Given the description of an element on the screen output the (x, y) to click on. 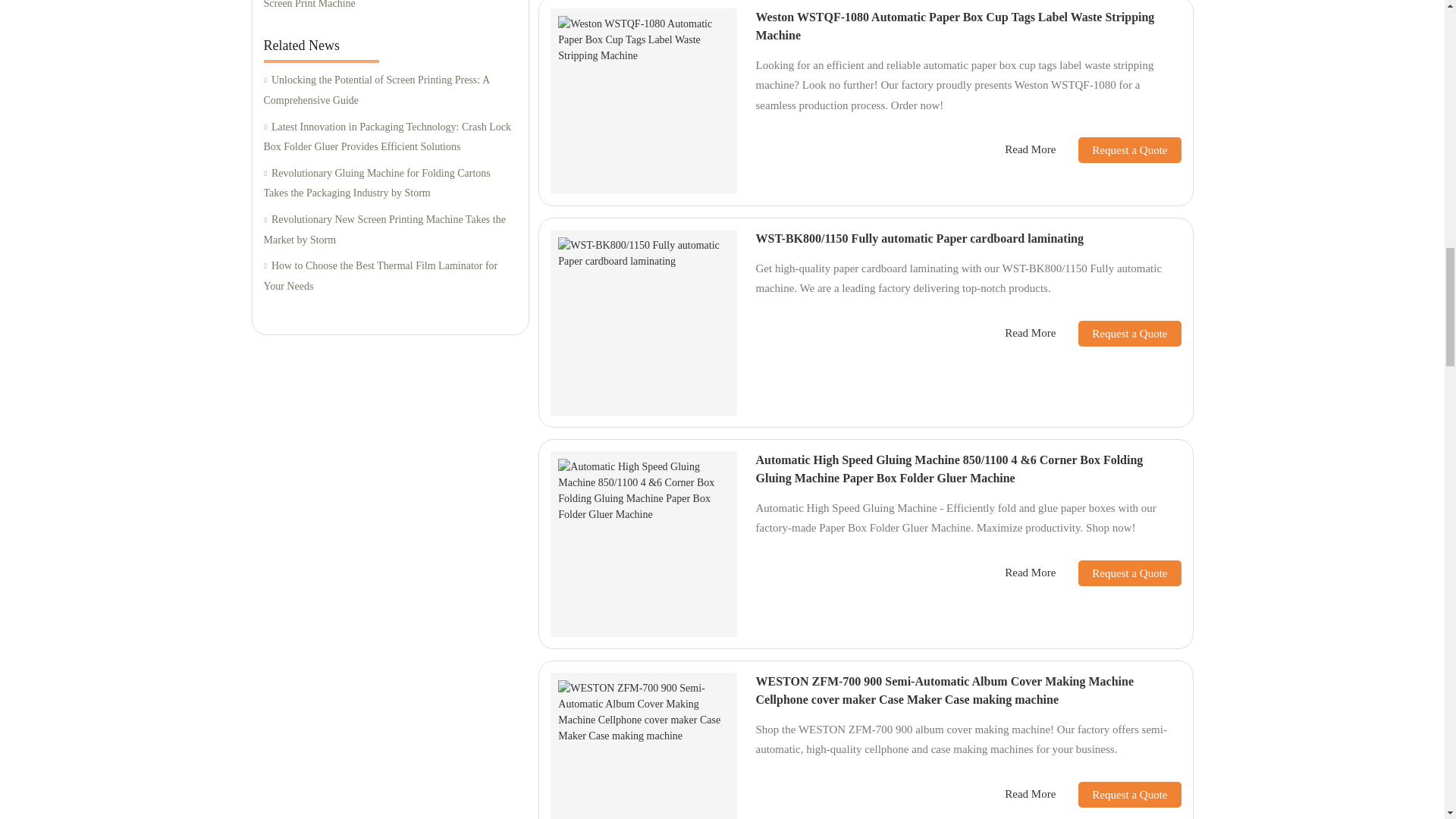
How to Choose the Best Thermal Film Laminator for Your Needs (389, 276)
